Given the description of an element on the screen output the (x, y) to click on. 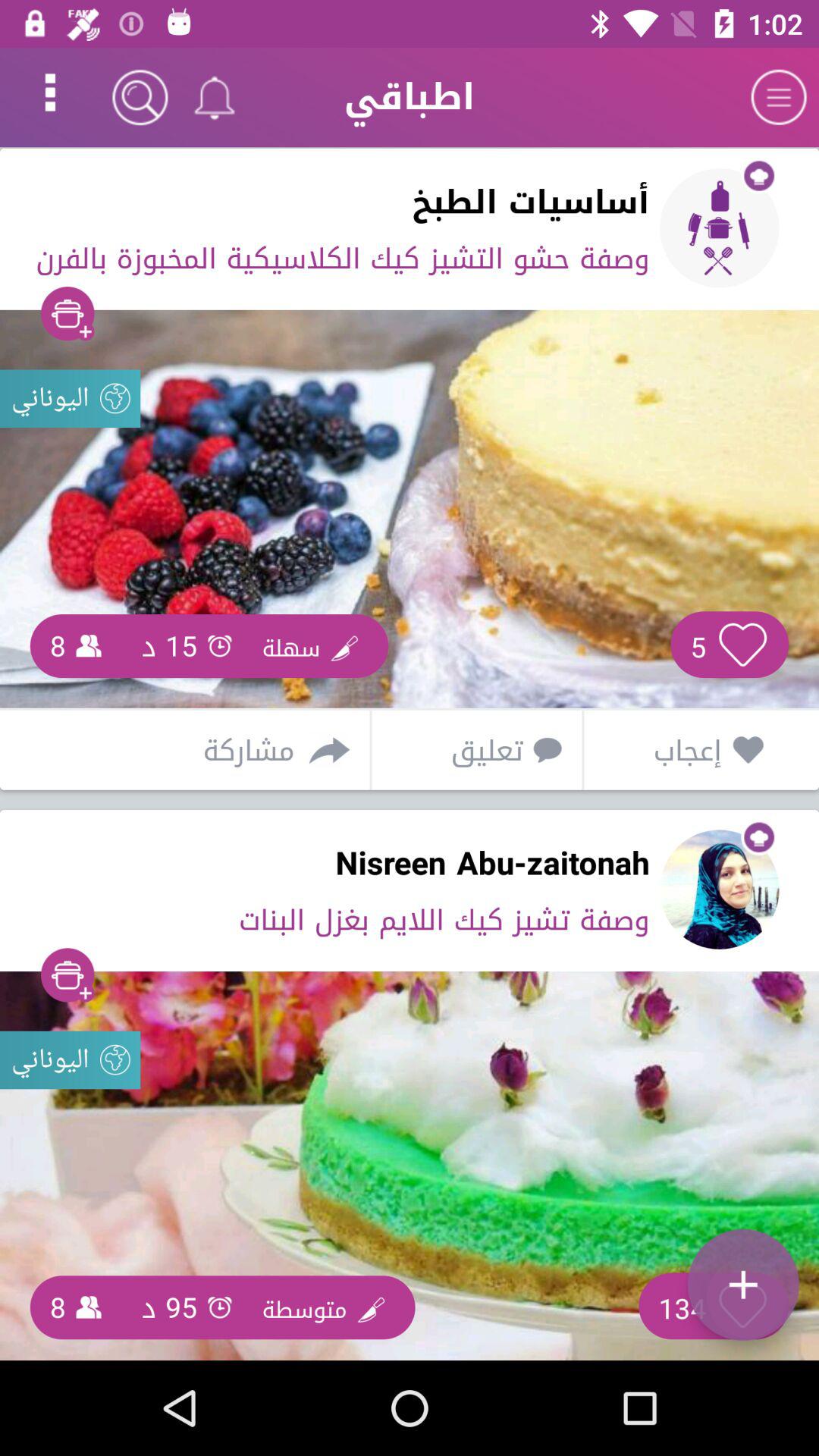
open the icon above nisreen abu-zaitonah item (206, 749)
